Given the description of an element on the screen output the (x, y) to click on. 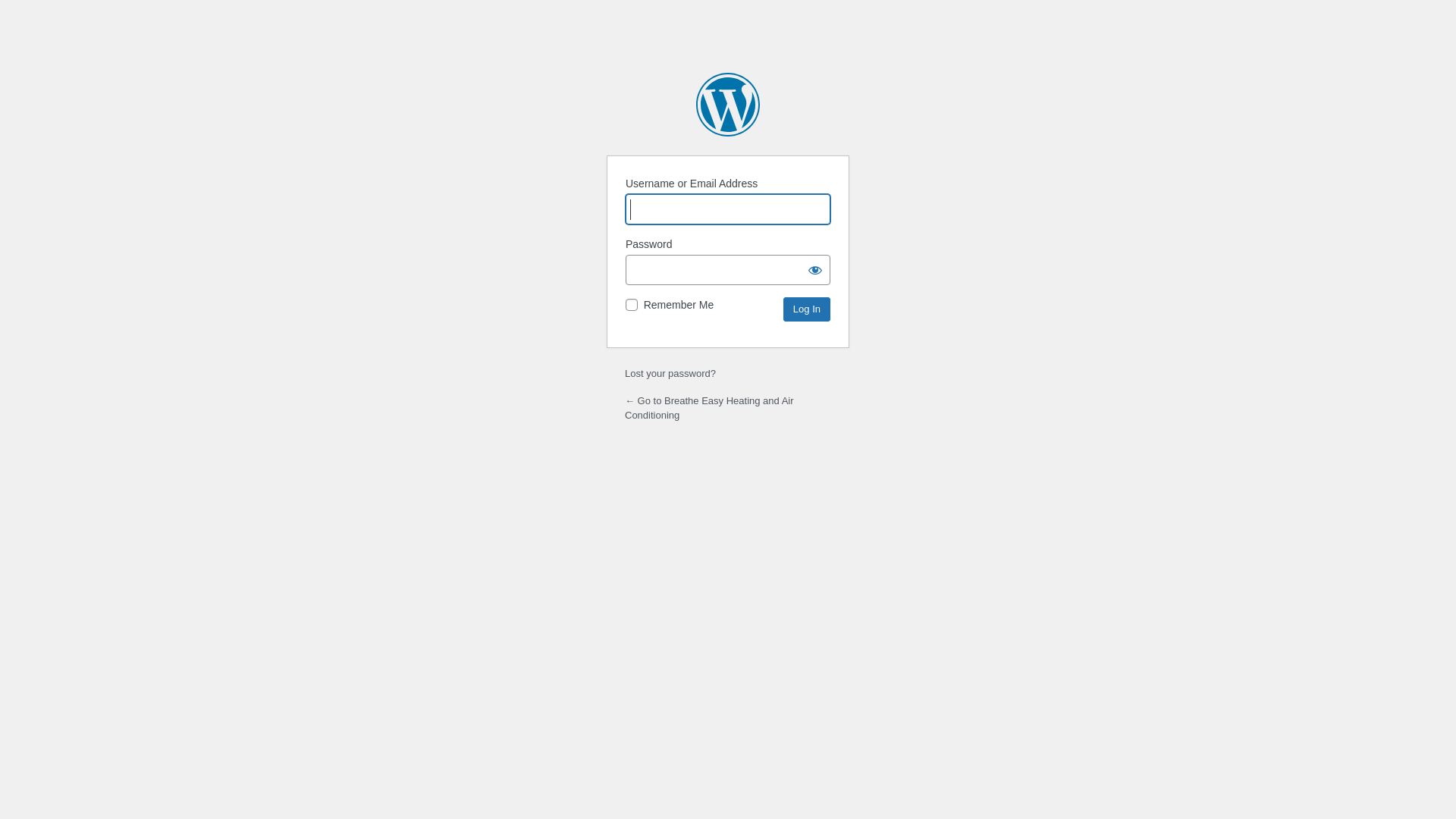
Powered by WordPress Element type: text (727, 104)
Log In Element type: text (806, 309)
Lost your password? Element type: text (669, 373)
